Given the description of an element on the screen output the (x, y) to click on. 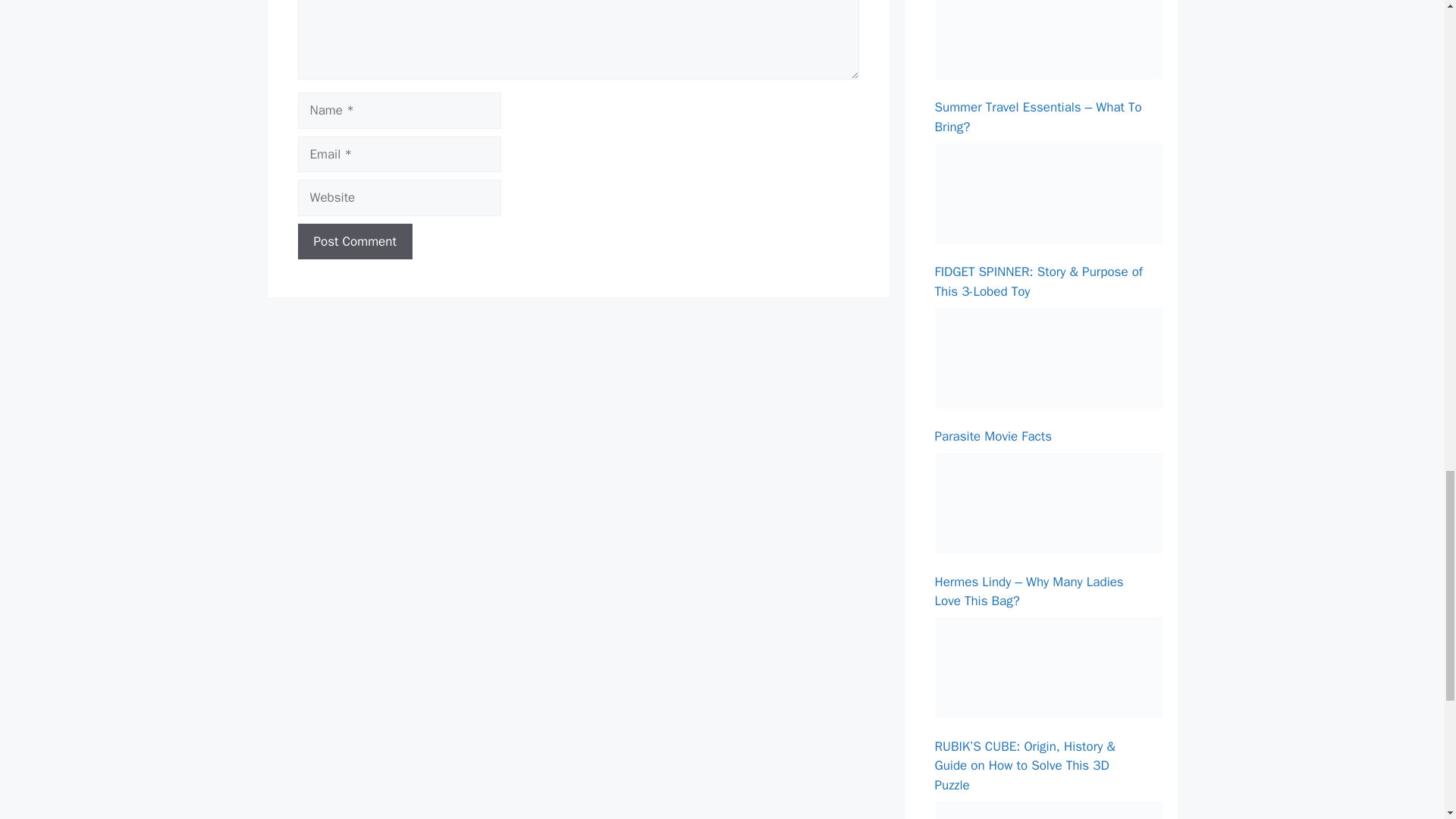
Post Comment (354, 241)
Post Comment (354, 241)
